Given the description of an element on the screen output the (x, y) to click on. 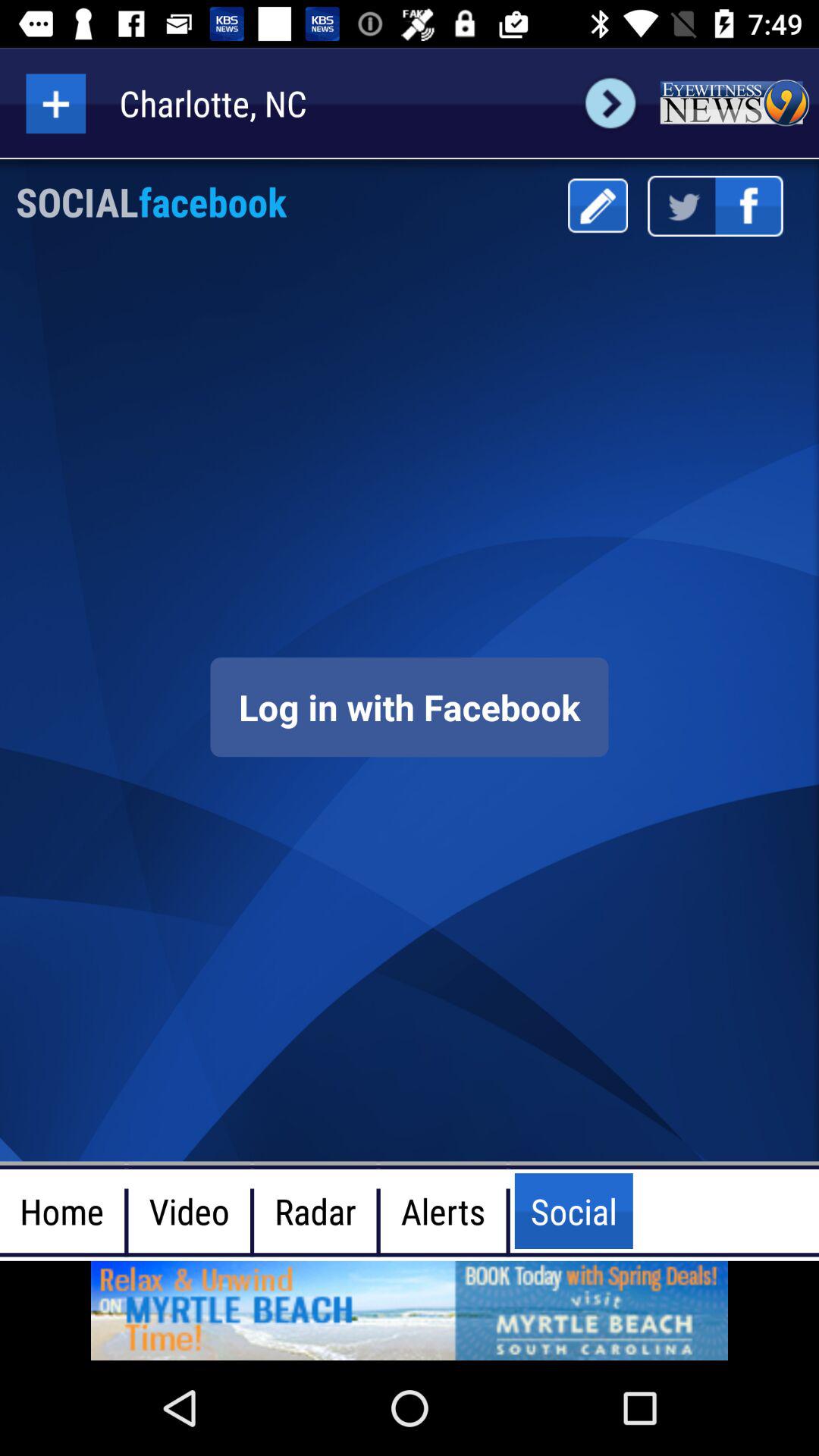
go to news (734, 103)
